Given the description of an element on the screen output the (x, y) to click on. 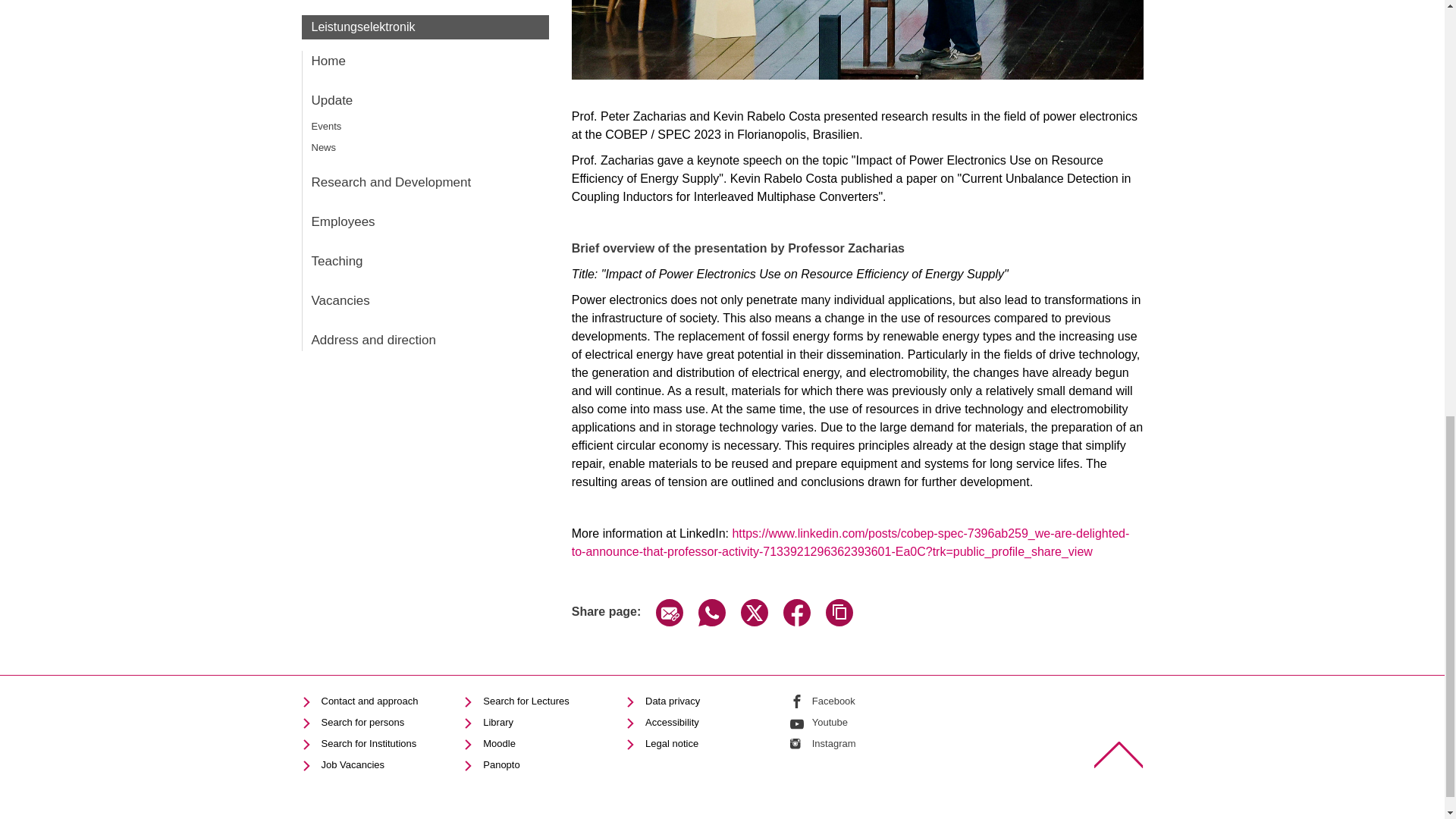
To top (1117, 755)
Share page via email (669, 621)
